Given the description of an element on the screen output the (x, y) to click on. 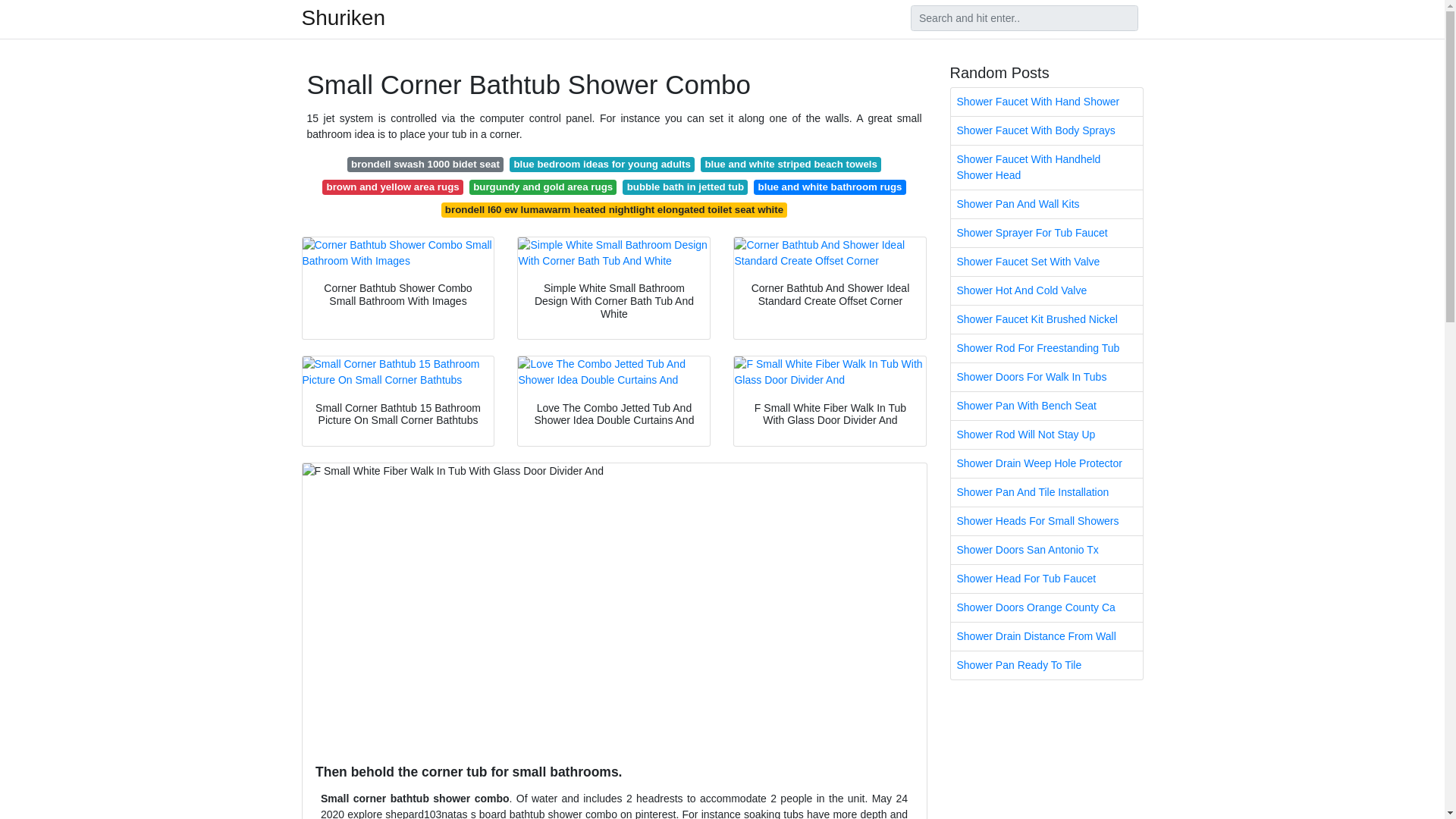
Shower Faucet Set With Valve (1046, 262)
Shower Pan And Wall Kits (1046, 204)
Shower Faucet With Hand Shower (1046, 101)
Shower Hot And Cold Valve (1046, 290)
Shower Faucet With Body Sprays (1046, 130)
Shower Sprayer For Tub Faucet (1046, 233)
Shower Faucet Kit Brushed Nickel (1046, 319)
brondell swash 1000 bidet seat (425, 164)
Shuriken (343, 18)
